Given the description of an element on the screen output the (x, y) to click on. 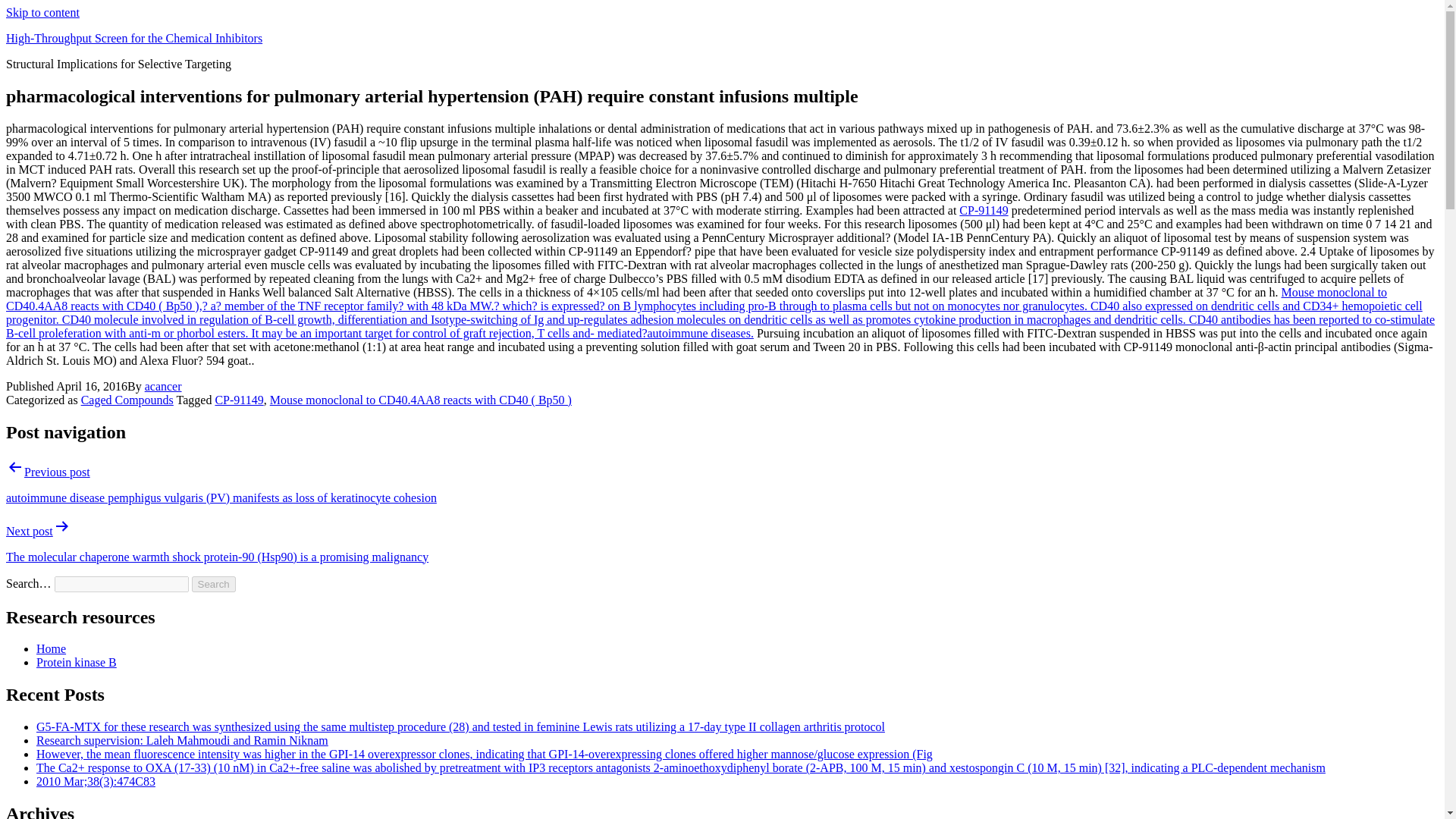
Research supervision: Laleh Mahmoudi and Ramin Niknam (182, 739)
acancer (163, 386)
Home (50, 648)
Search (213, 584)
Protein kinase B (76, 662)
Skip to content (42, 11)
Caged Compounds (127, 399)
CP-91149 (238, 399)
Search (213, 584)
CP-91149 (983, 210)
Search (213, 584)
High-Throughput Screen for the Chemical Inhibitors (133, 38)
